Given the description of an element on the screen output the (x, y) to click on. 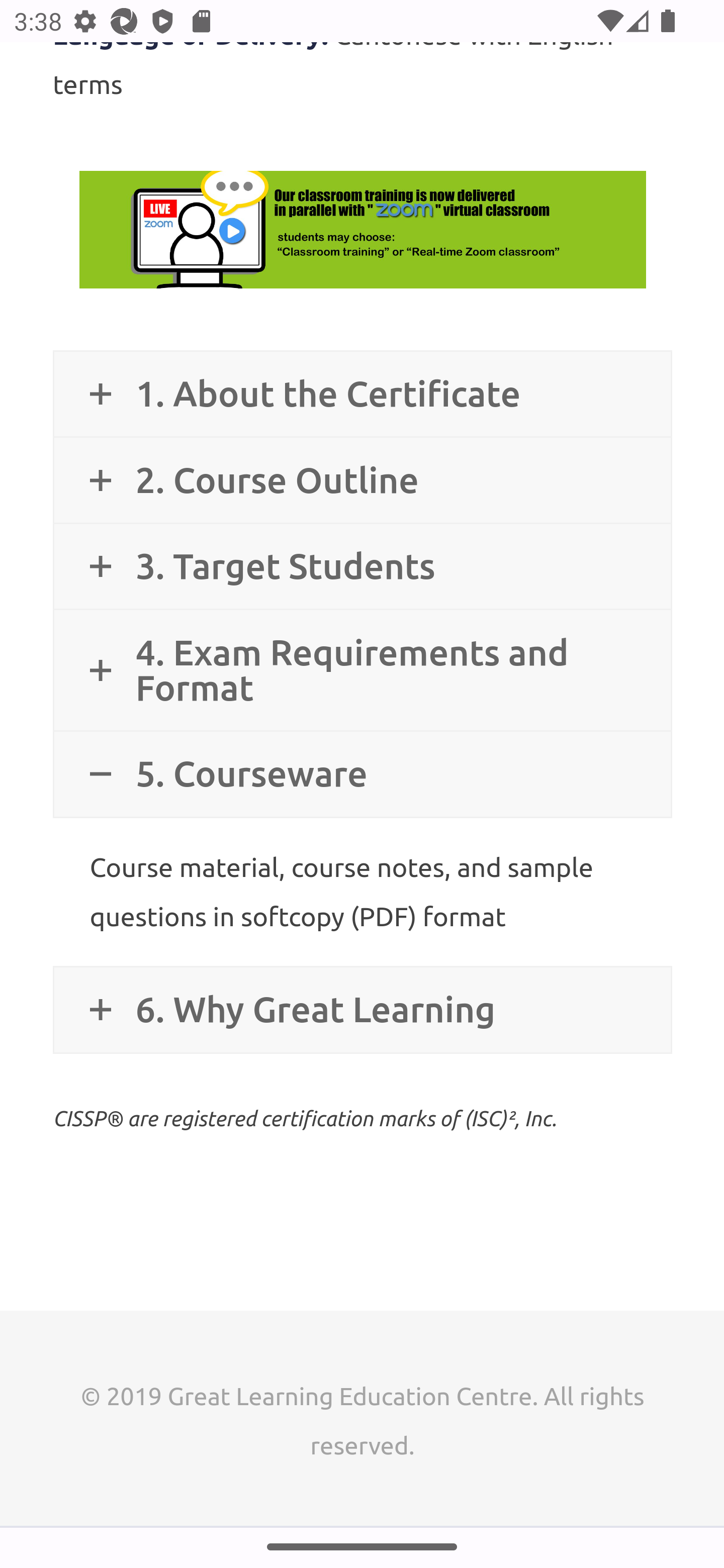
5. Courseware 5. Courseware 5. Courseware (361, 774)
